Given the description of an element on the screen output the (x, y) to click on. 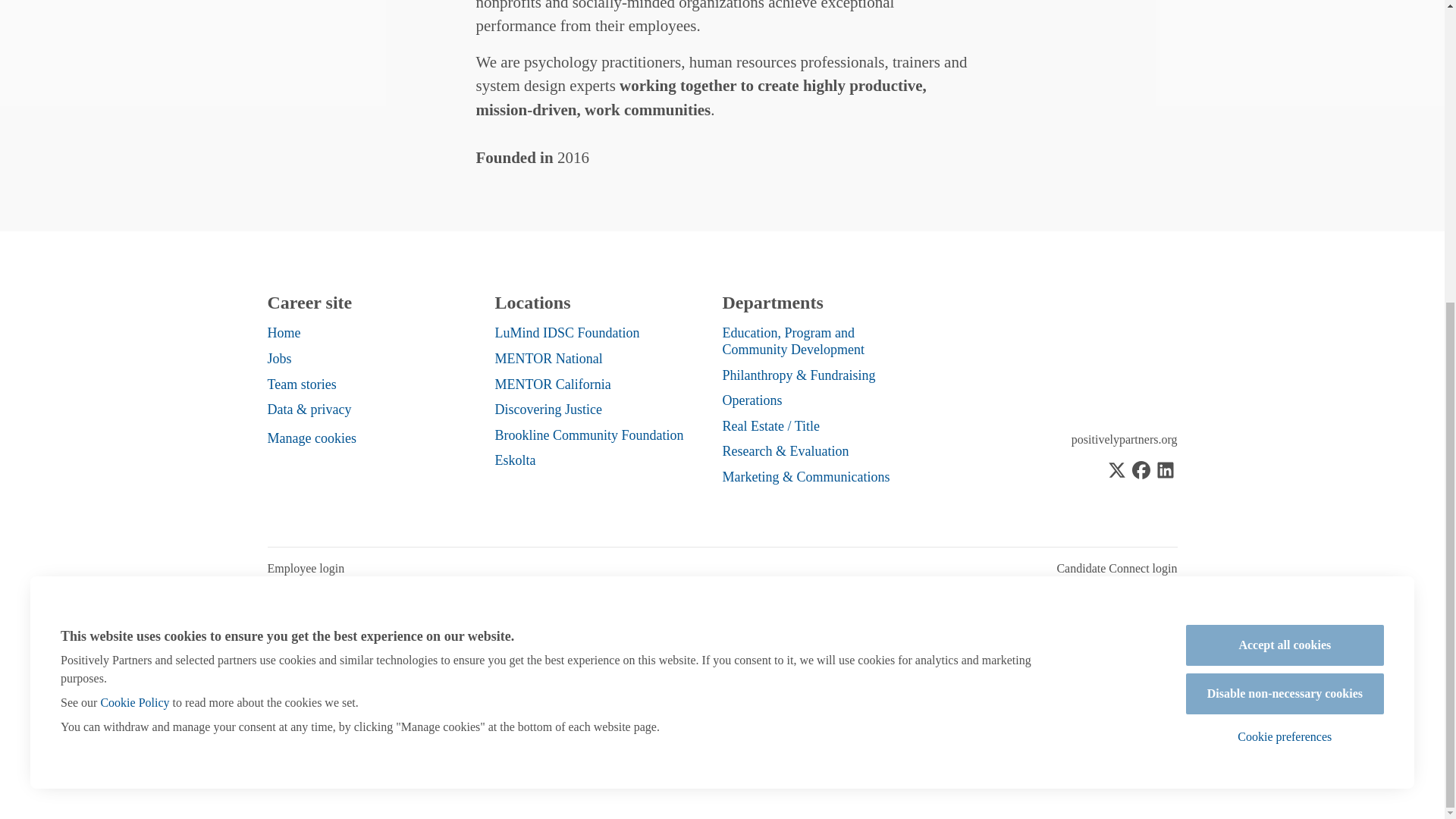
Education, Program and Community Development (792, 341)
Team stories (301, 383)
Cookie preferences (1284, 264)
Brookline Community Foundation (588, 435)
Manage cookies (310, 438)
Operations (751, 400)
facebook (1140, 471)
Cookie Policy (134, 229)
Accept all cookies (1285, 172)
LuMind IDSC Foundation (567, 332)
x-twitter (1115, 471)
Disable non-necessary cookies (1285, 220)
MENTOR National (548, 358)
MENTOR California (552, 383)
Home (282, 332)
